Given the description of an element on the screen output the (x, y) to click on. 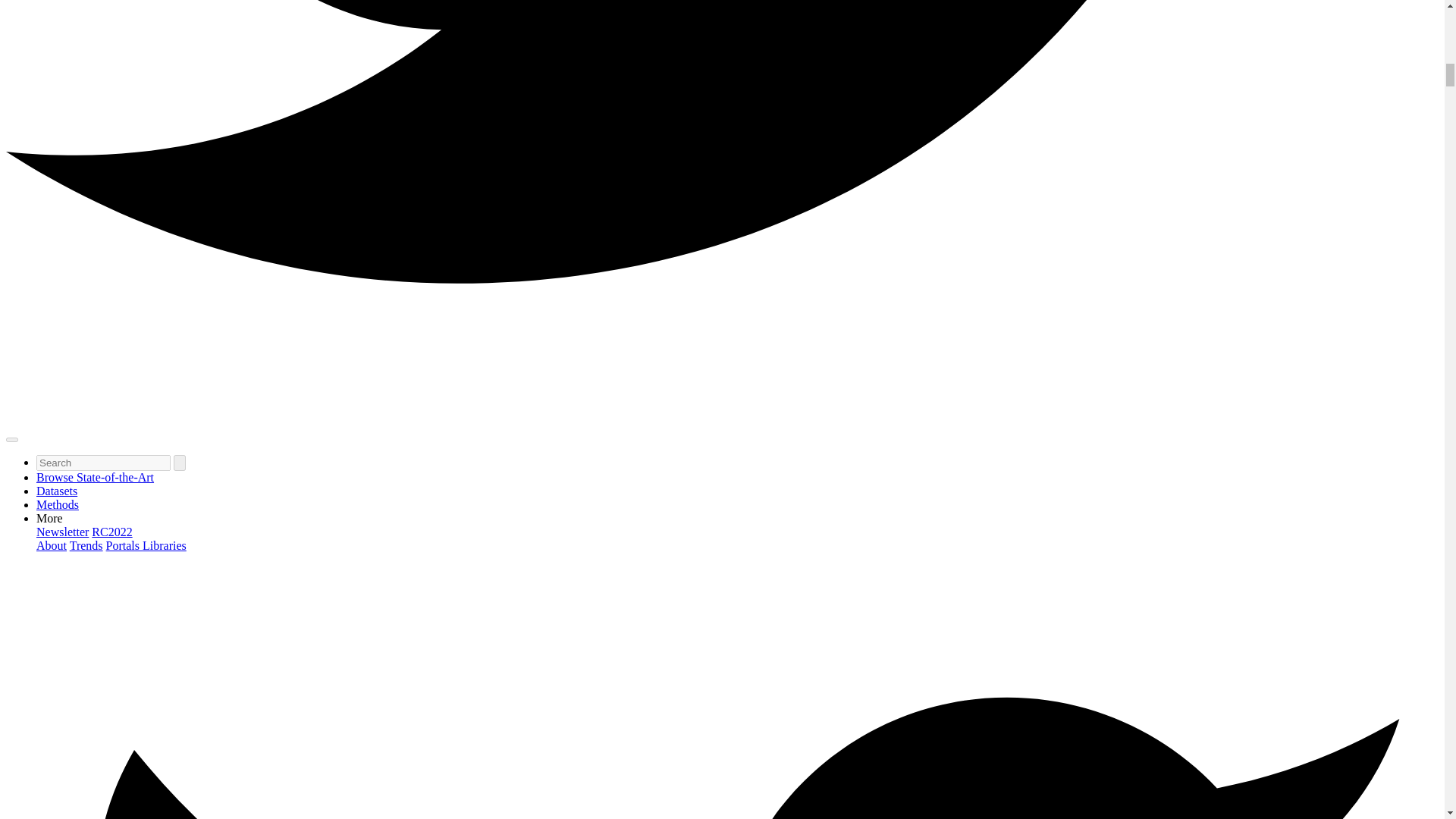
Libraries (164, 545)
About (51, 545)
Browse State-of-the-Art (95, 477)
More (49, 517)
RC2022 (111, 531)
Portals (124, 545)
Methods (57, 504)
Datasets (56, 490)
Trends (86, 545)
Newsletter (62, 531)
